Given the description of an element on the screen output the (x, y) to click on. 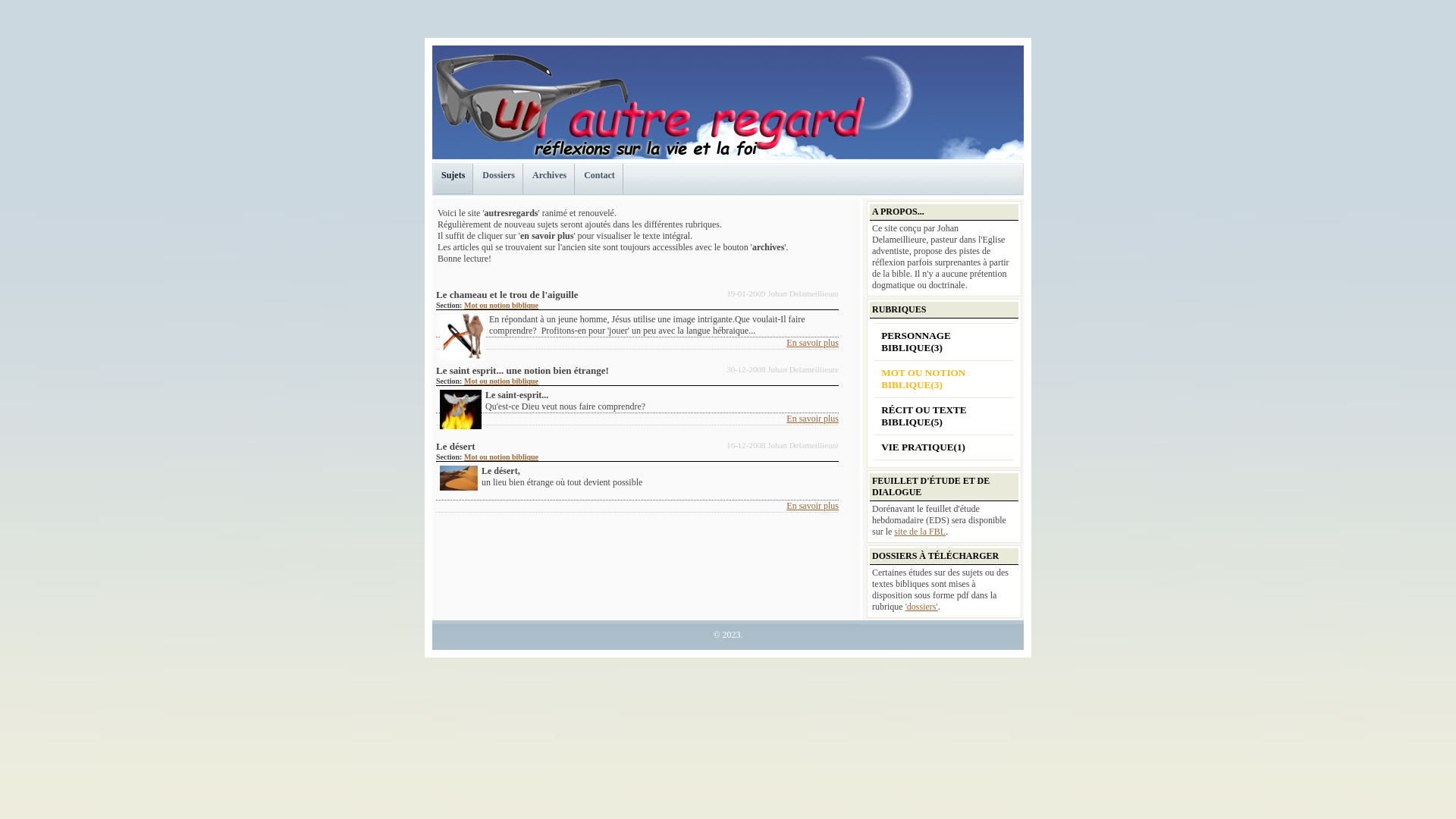
Dossiers Element type: text (498, 178)
Mot ou notion biblique Element type: text (501, 456)
En savoir plus Element type: text (812, 342)
En savoir plus Element type: text (812, 505)
Mot ou notion biblique Element type: text (501, 305)
Contact Element type: text (599, 178)
Sujets Element type: text (453, 178)
PERSONNAGE BIBLIQUE(3) Element type: text (943, 341)
MOT OU NOTION BIBLIQUE(3) Element type: text (943, 378)
Archives Element type: text (549, 178)
'dossiers' Element type: text (921, 606)
site de la FBL Element type: text (919, 531)
VIE PRATIQUE(1) Element type: text (943, 447)
En savoir plus Element type: text (812, 418)
Mot ou notion biblique Element type: text (501, 380)
